Given the description of an element on the screen output the (x, y) to click on. 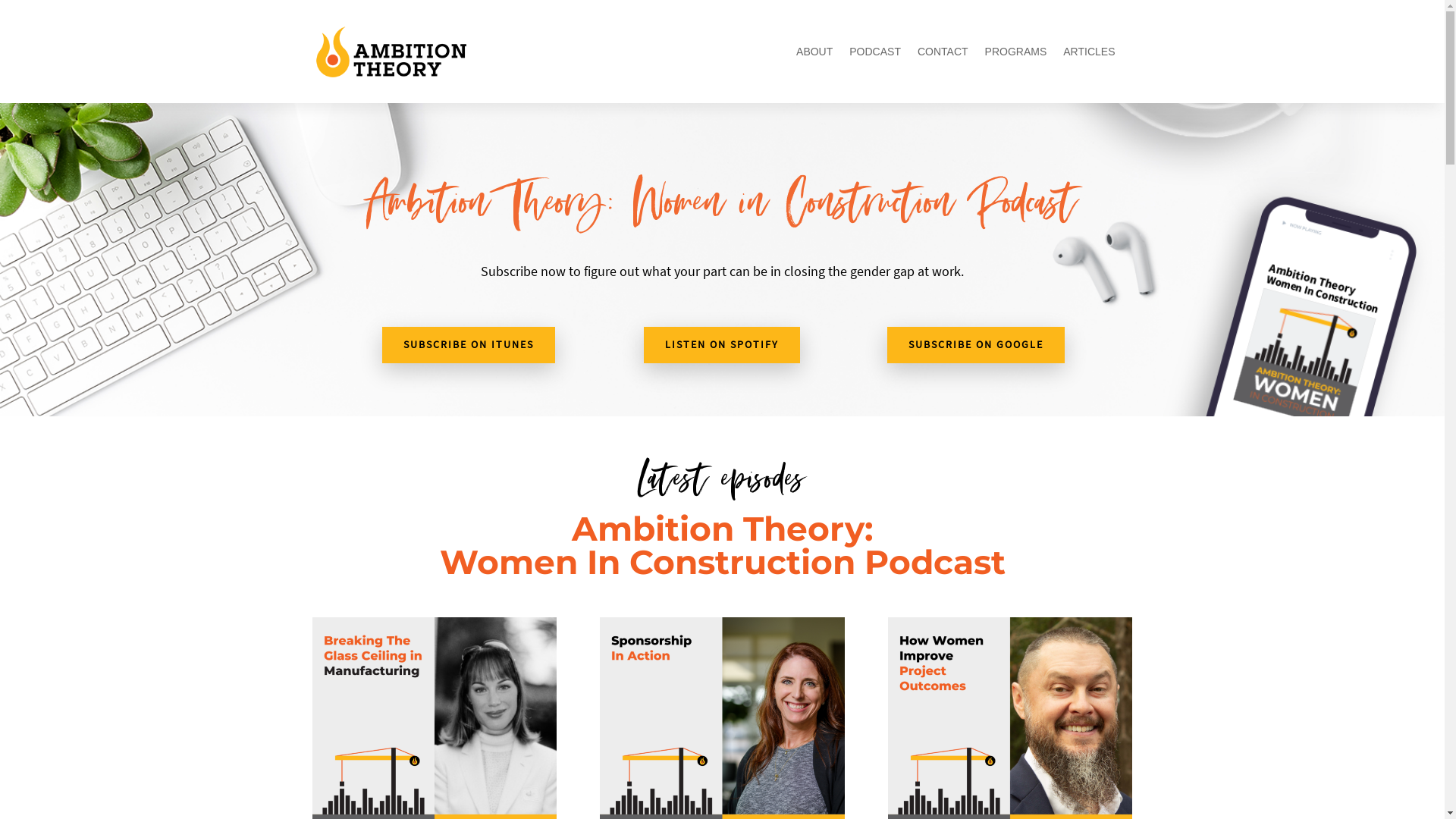
ARTICLES Element type: text (1088, 51)
CONTACT Element type: text (942, 51)
ABOUT Element type: text (814, 51)
PODCAST Element type: text (874, 51)
SUBSCRIBE ON ITUNES Element type: text (468, 344)
PROGRAMS Element type: text (1016, 51)
LISTEN ON SPOTIFY Element type: text (721, 344)
SUBSCRIBE ON GOOGLE Element type: text (975, 344)
